Given the description of an element on the screen output the (x, y) to click on. 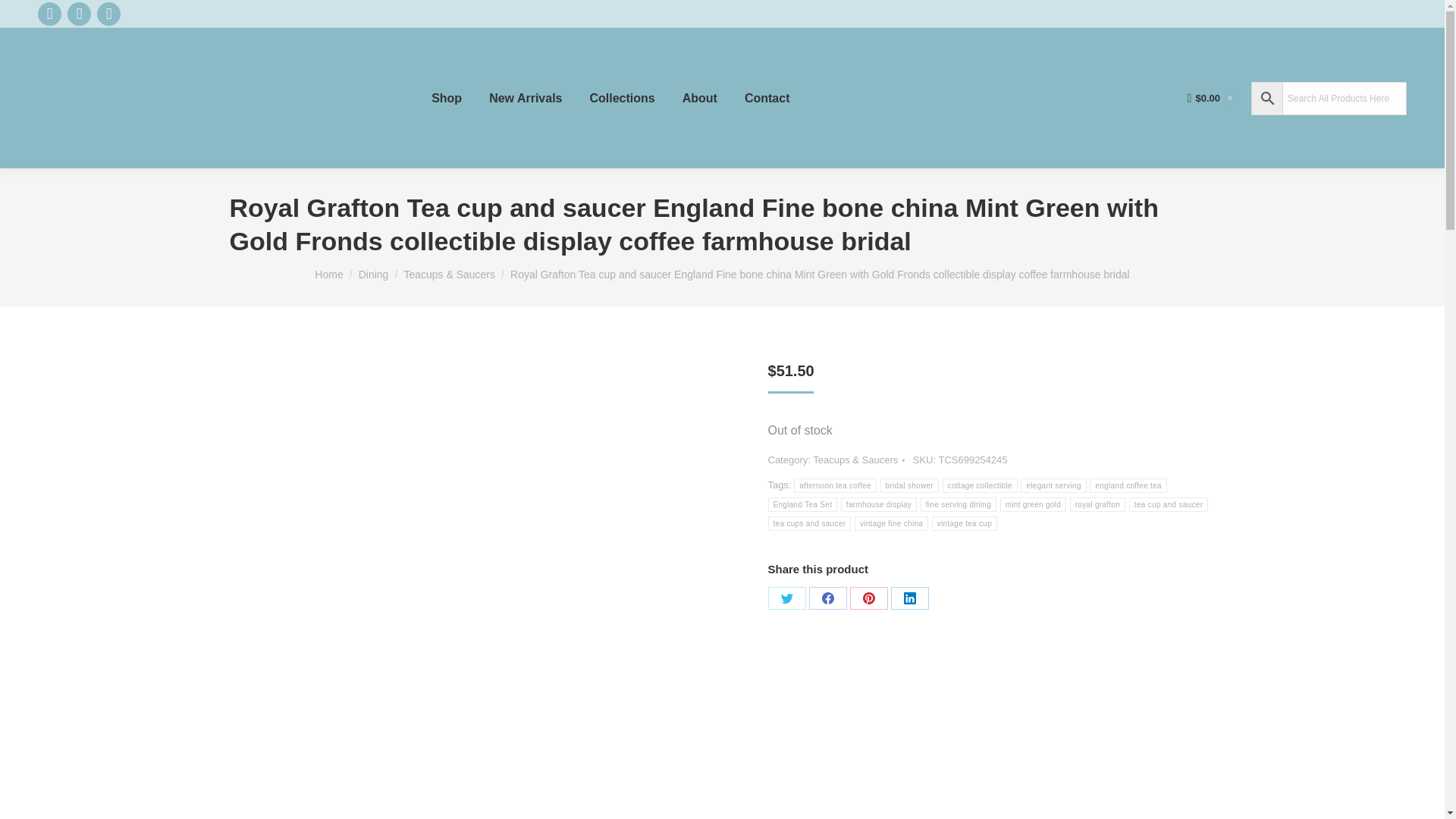
Twitter page opens in new window (78, 13)
Instagram page opens in new window (108, 13)
Shop (446, 97)
New Arrivals (525, 97)
Facebook page opens in new window (49, 13)
Facebook page opens in new window (49, 13)
Instagram page opens in new window (108, 13)
Home (328, 274)
Collections (622, 97)
Twitter page opens in new window (78, 13)
